Given the description of an element on the screen output the (x, y) to click on. 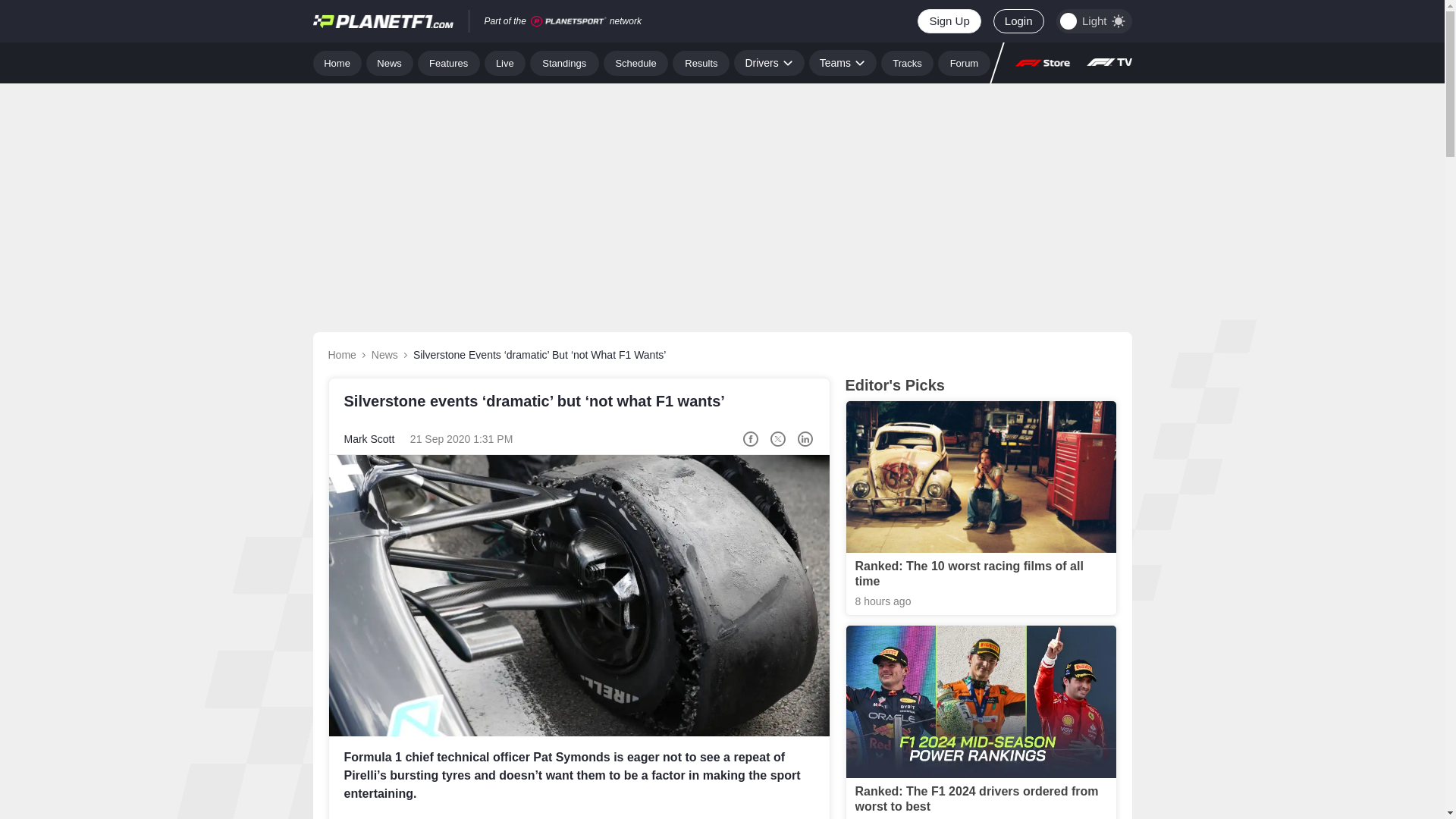
Teams (842, 62)
Standings (563, 62)
Results (700, 62)
Live (504, 62)
Features (448, 62)
Login (1017, 21)
Drivers (768, 62)
Sign Up (948, 21)
Schedule (636, 62)
News (389, 62)
